Given the description of an element on the screen output the (x, y) to click on. 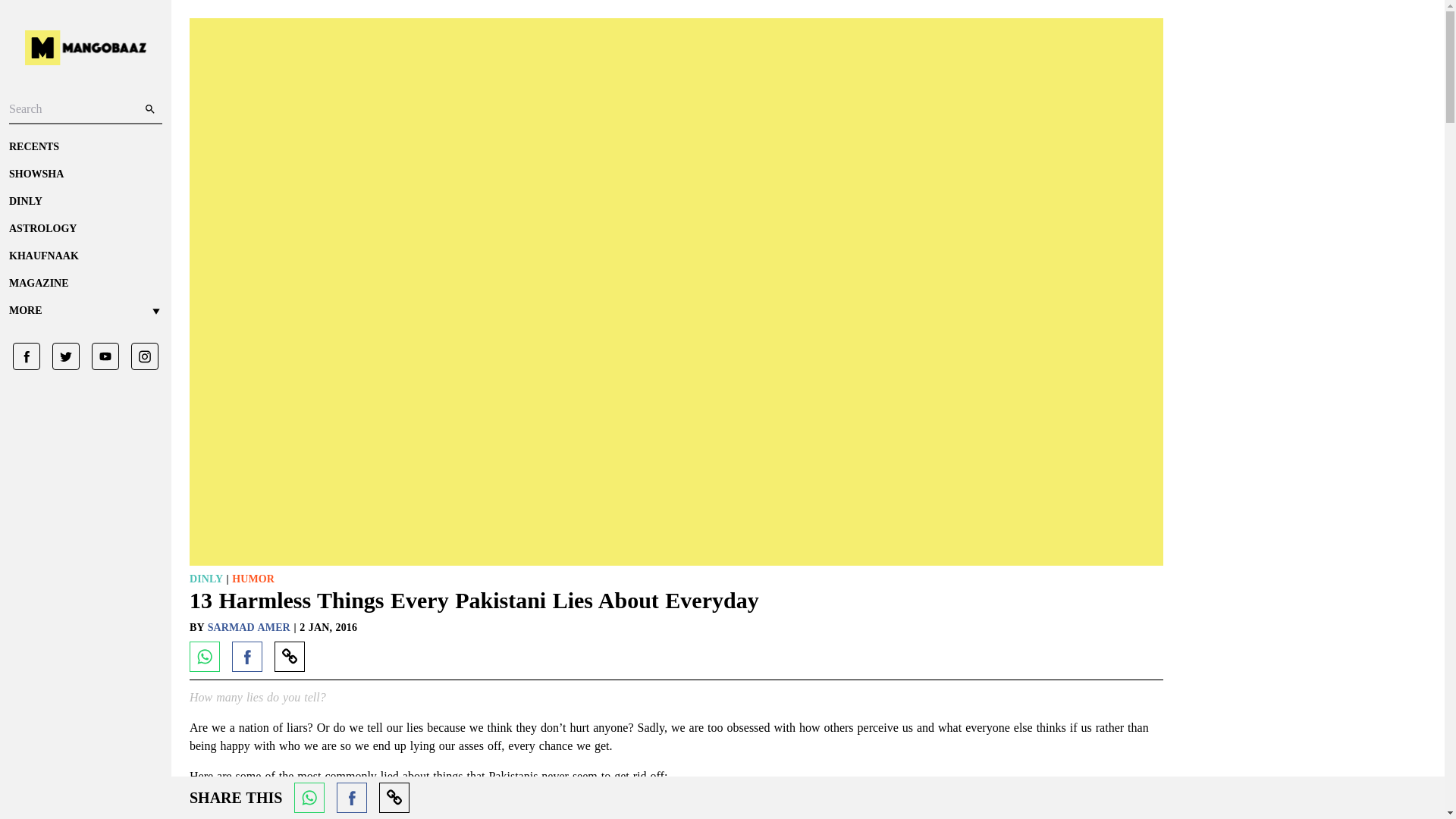
RECENTS (84, 146)
MORE (84, 310)
HUMOR (253, 578)
Whatsapp (309, 797)
SHOWSHA (84, 174)
ASTROLOGY (84, 228)
MangoBaaz Magazine (84, 283)
Link to Twitter (60, 356)
Whatsapp (204, 656)
KHAUFNAAK (84, 256)
